Given the description of an element on the screen output the (x, y) to click on. 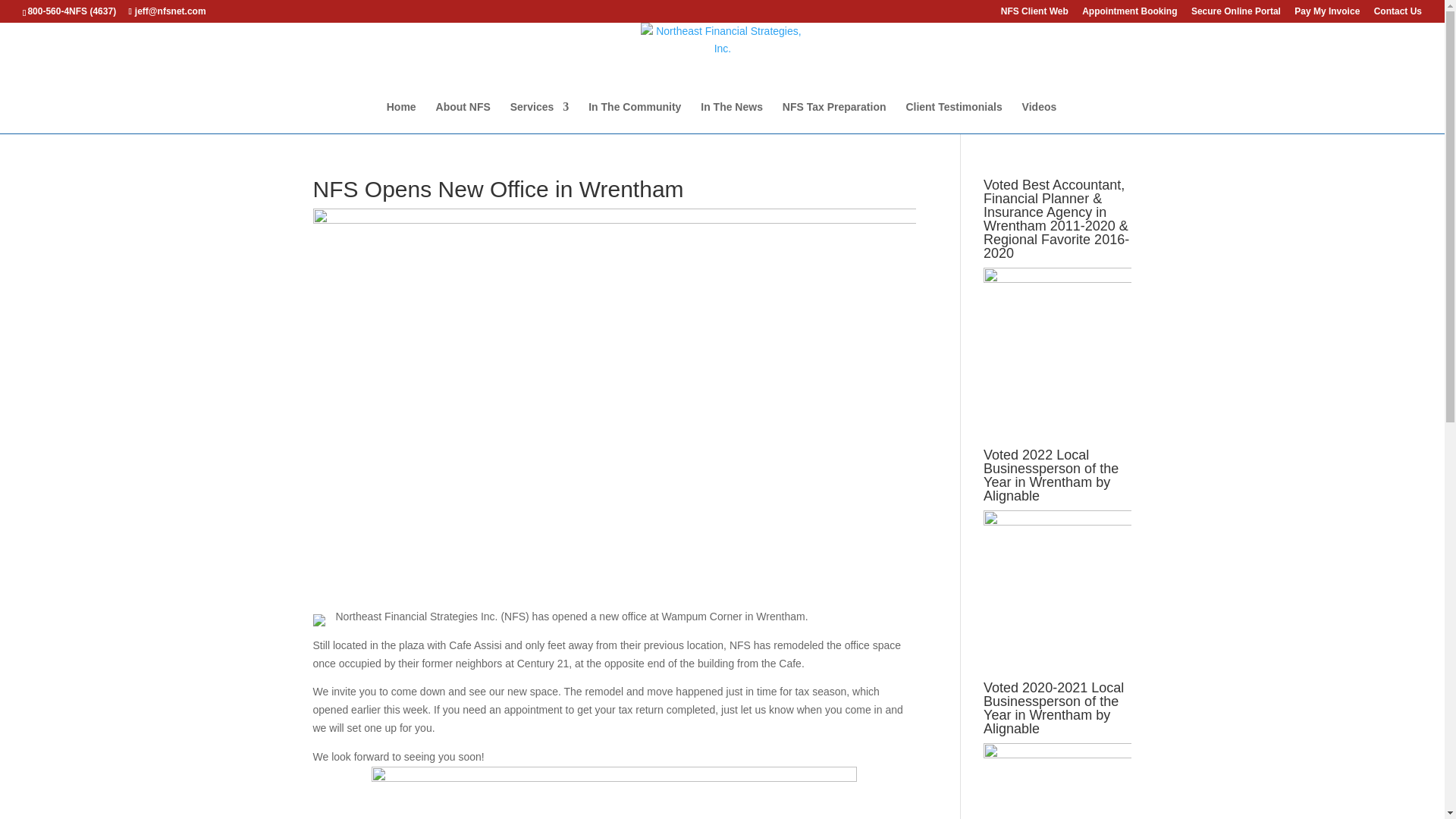
NFS Client Web (1034, 14)
Secure Online Portal (1236, 14)
In The News (731, 117)
Videos (1039, 117)
About NFS (462, 117)
In The Community (634, 117)
Appointment Booking (1128, 14)
Home (401, 117)
Client Testimonials (953, 117)
Services (540, 117)
